Given the description of an element on the screen output the (x, y) to click on. 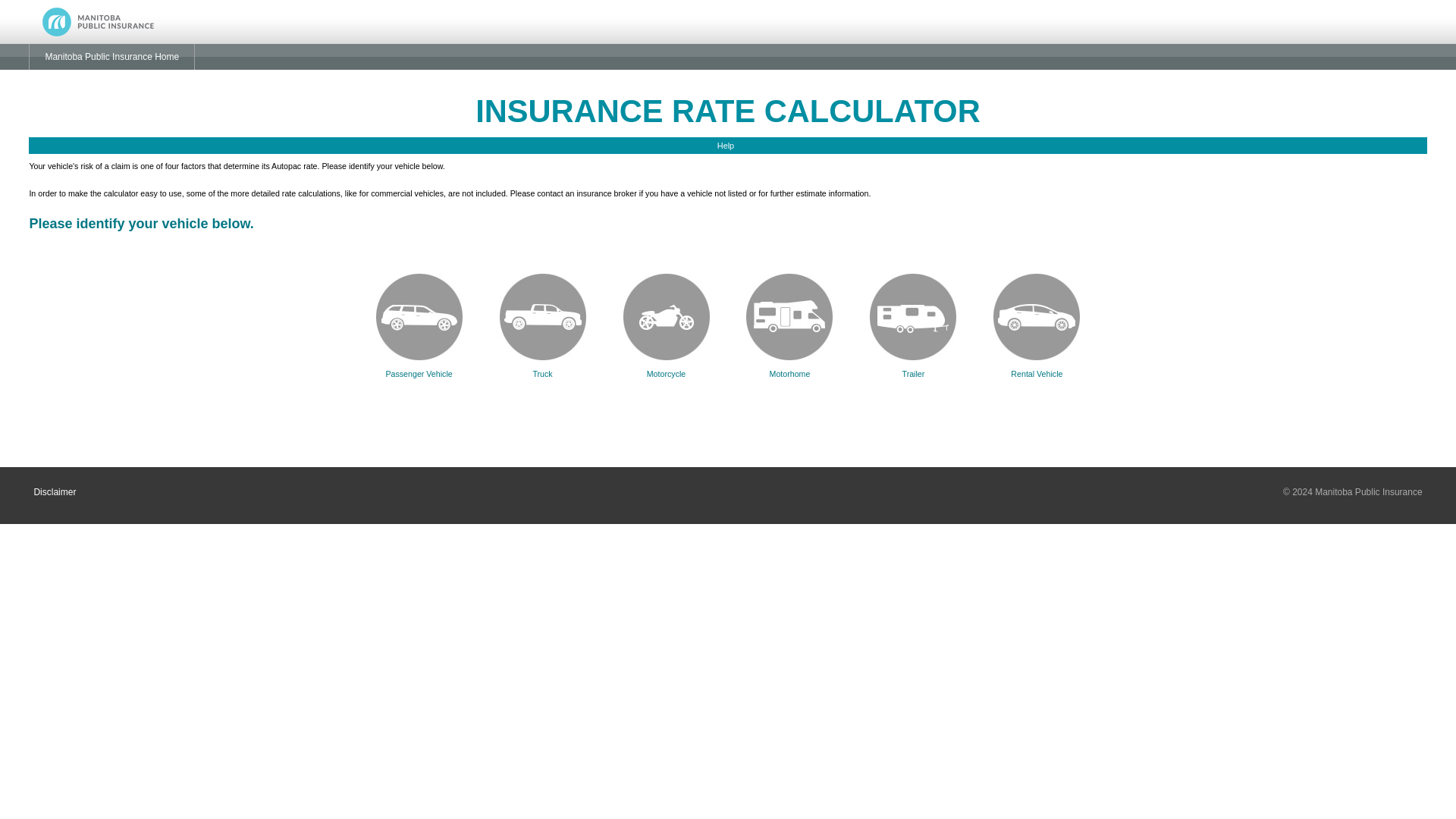
Truck (542, 365)
Help   (727, 145)
Motorcycle (666, 365)
Motorhome (788, 365)
insurance broker (606, 193)
Trailer (912, 365)
Passenger Vehicle (419, 365)
Manitoba Public Insurance Home (112, 56)
Rental Vehicle (1036, 365)
Disclaimer (54, 491)
